Given the description of an element on the screen output the (x, y) to click on. 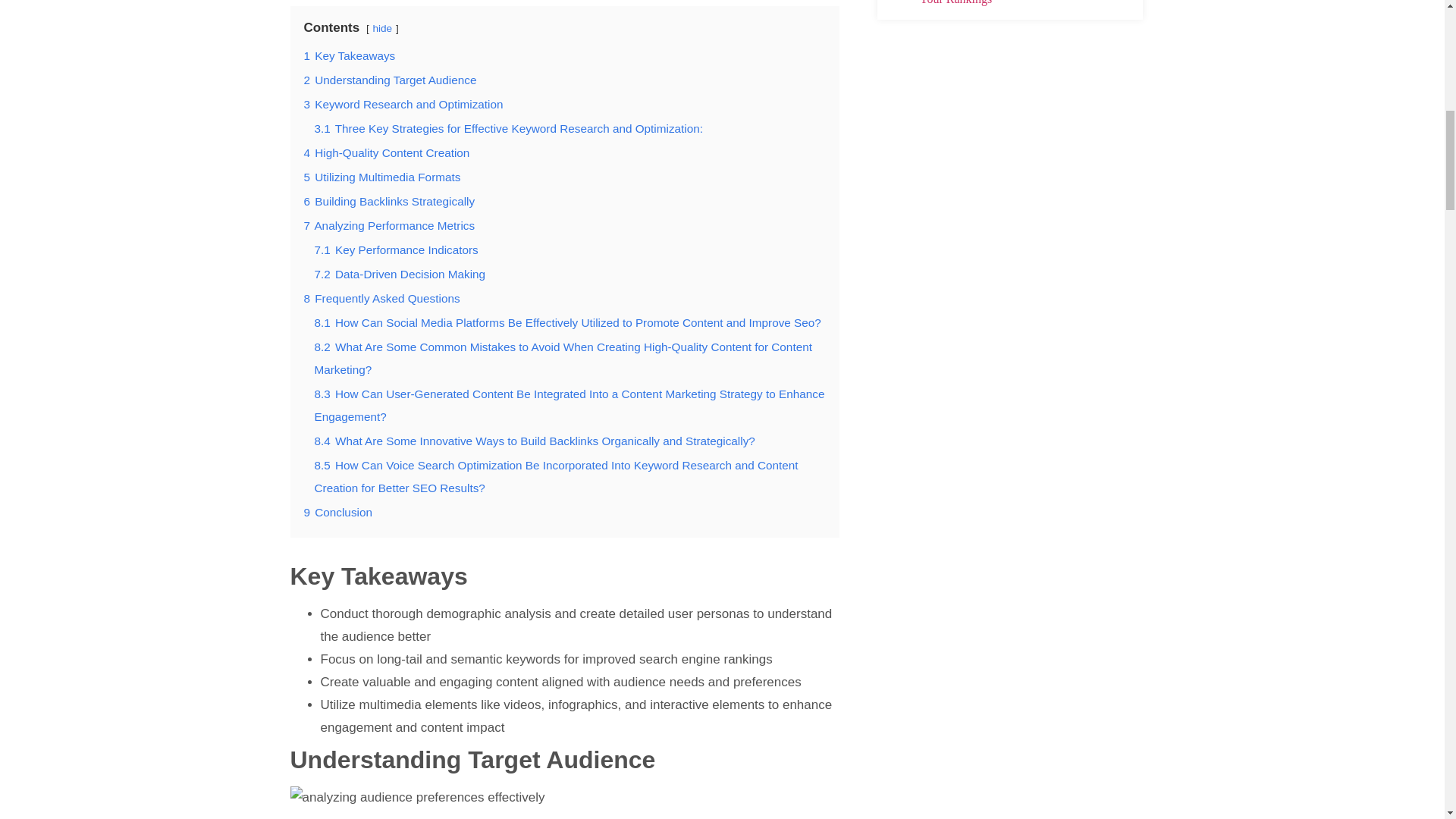
7 Analyzing Performance Metrics (388, 225)
3 Keyword Research and Optimization (402, 103)
hide (381, 28)
4 High-Quality Content Creation (385, 152)
1 Key Takeaways (348, 55)
6 Building Backlinks Strategically (388, 201)
2 Understanding Target Audience (389, 79)
5 Utilizing Multimedia Formats (381, 176)
